Given the description of an element on the screen output the (x, y) to click on. 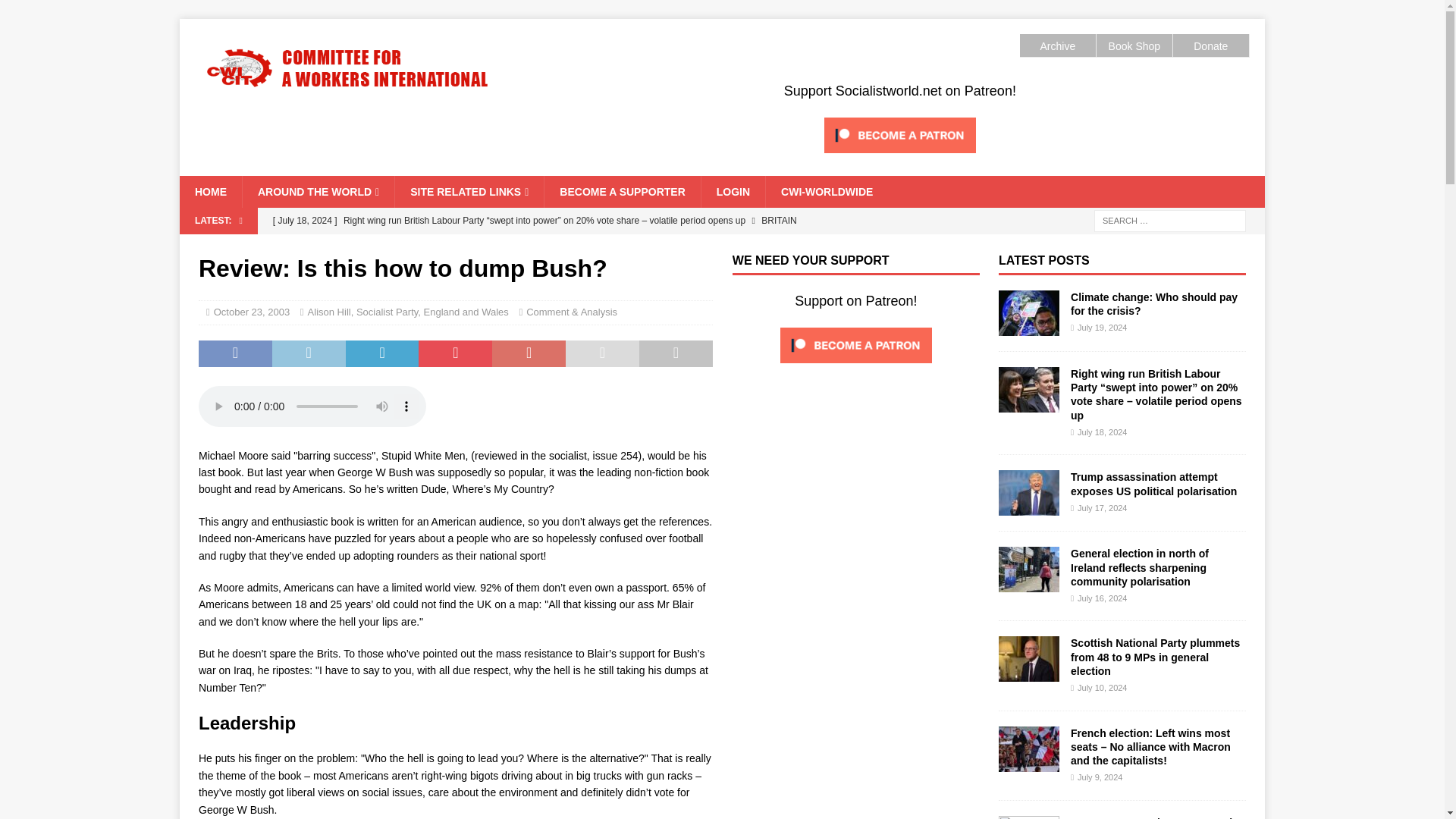
Book Shop (1134, 46)
Archive (1057, 46)
Donate (1210, 46)
